Given the description of an element on the screen output the (x, y) to click on. 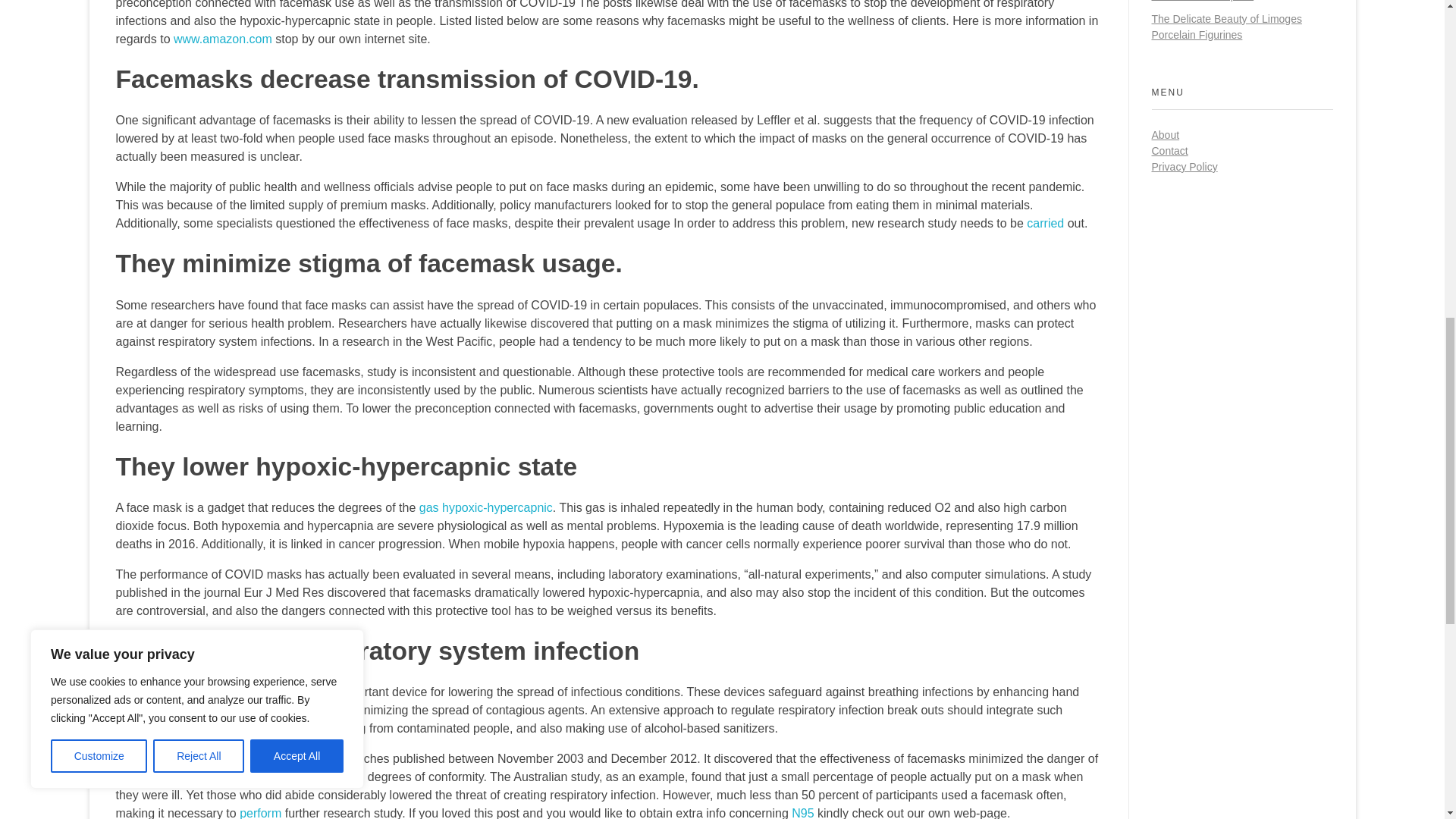
carried (1045, 223)
perform (260, 812)
gas hypoxic-hypercapnic (486, 507)
www.amazon.com (222, 38)
N95 (802, 812)
